Given the description of an element on the screen output the (x, y) to click on. 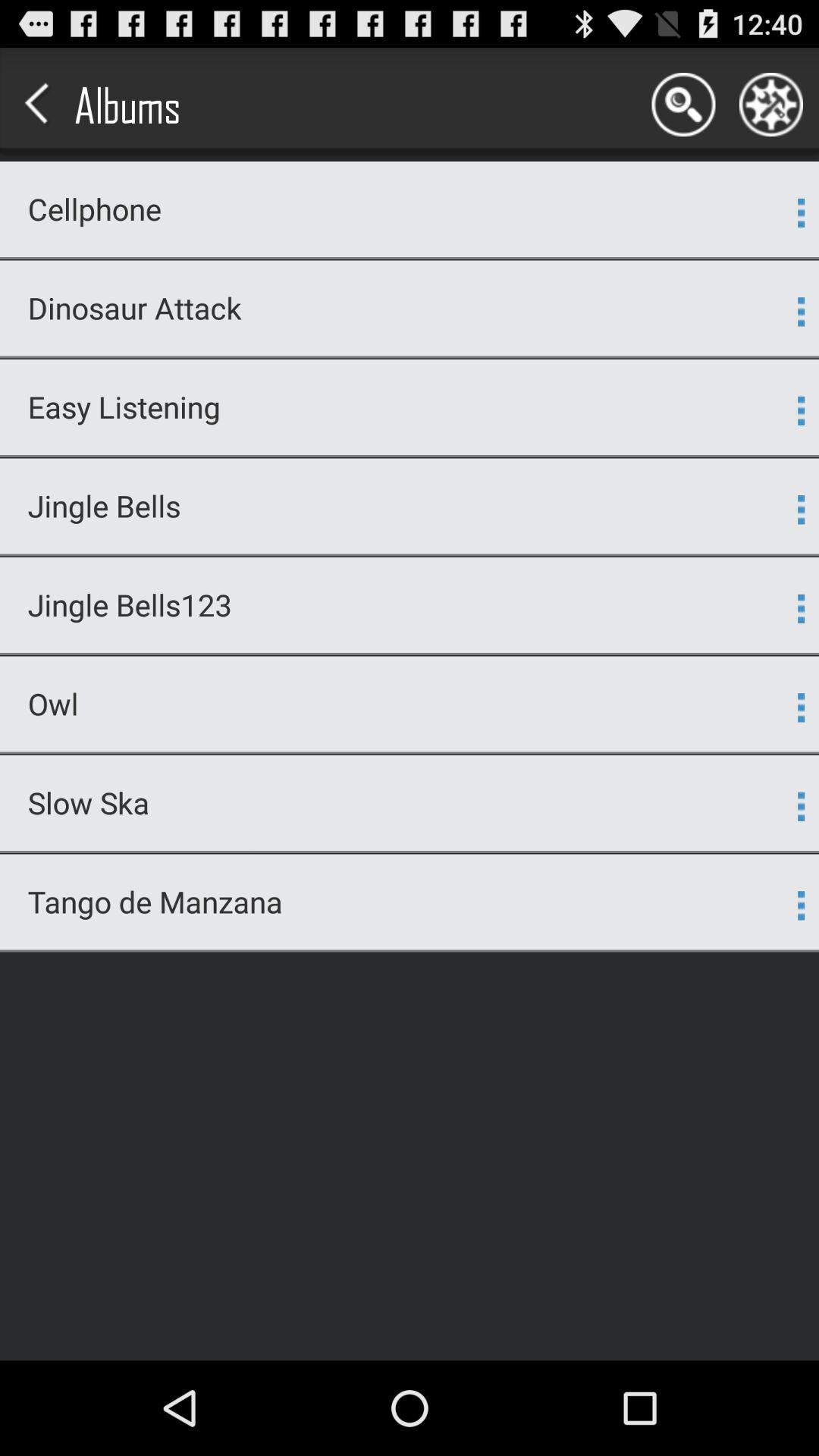
tap app next to dinosaur attack app (800, 311)
